Given the description of an element on the screen output the (x, y) to click on. 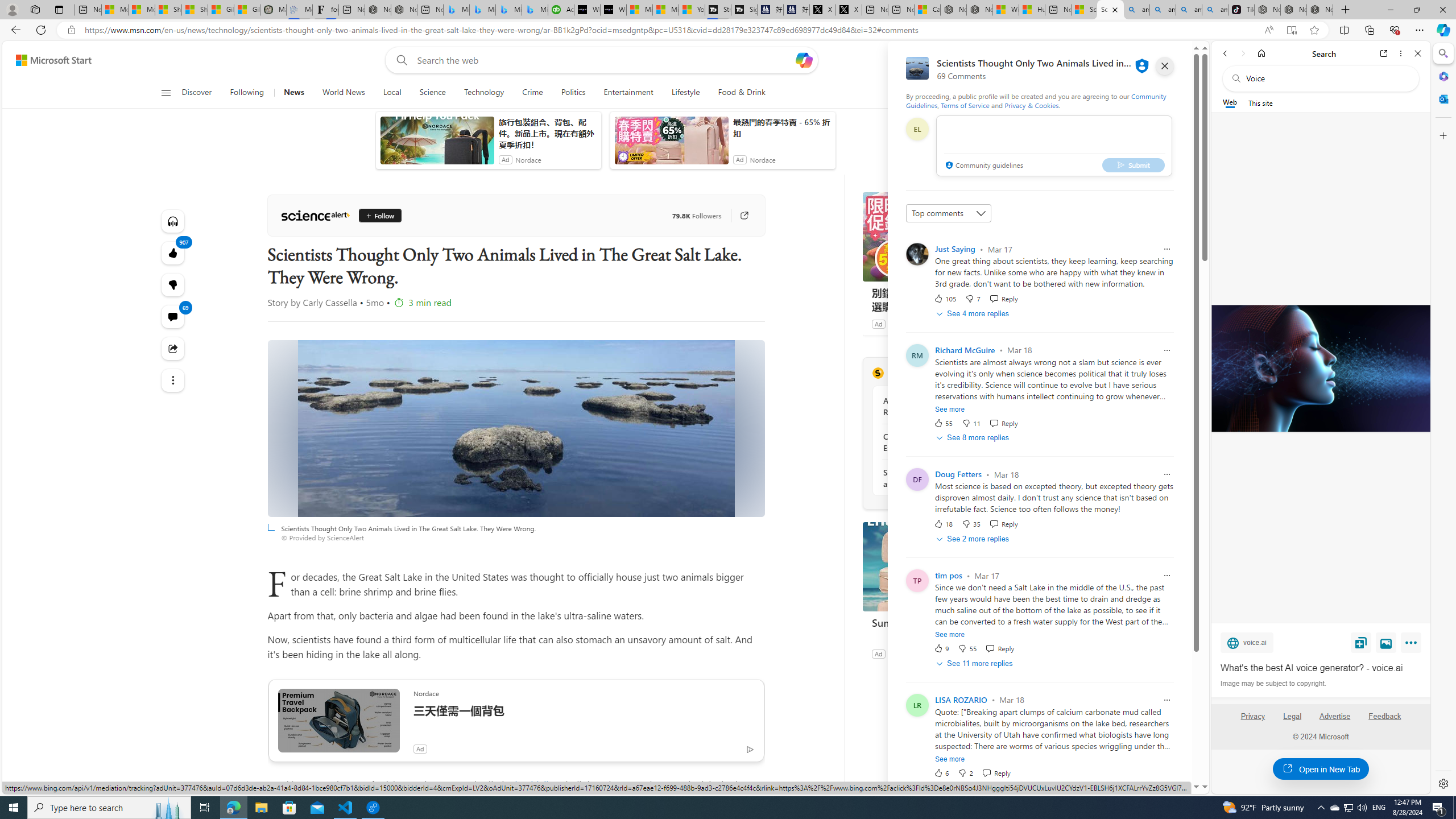
Science (432, 92)
Personal Profile (12, 9)
LISA ROZARIO (960, 699)
Crime (532, 92)
Image may be subject to copyright. (1273, 682)
Ad Choice (1020, 653)
Web search (398, 60)
Share this story (172, 348)
Dislike (964, 772)
microbialites (534, 784)
Forward (1242, 53)
New Tab (1346, 9)
News (293, 92)
Lifestyle (685, 92)
